Given the description of an element on the screen output the (x, y) to click on. 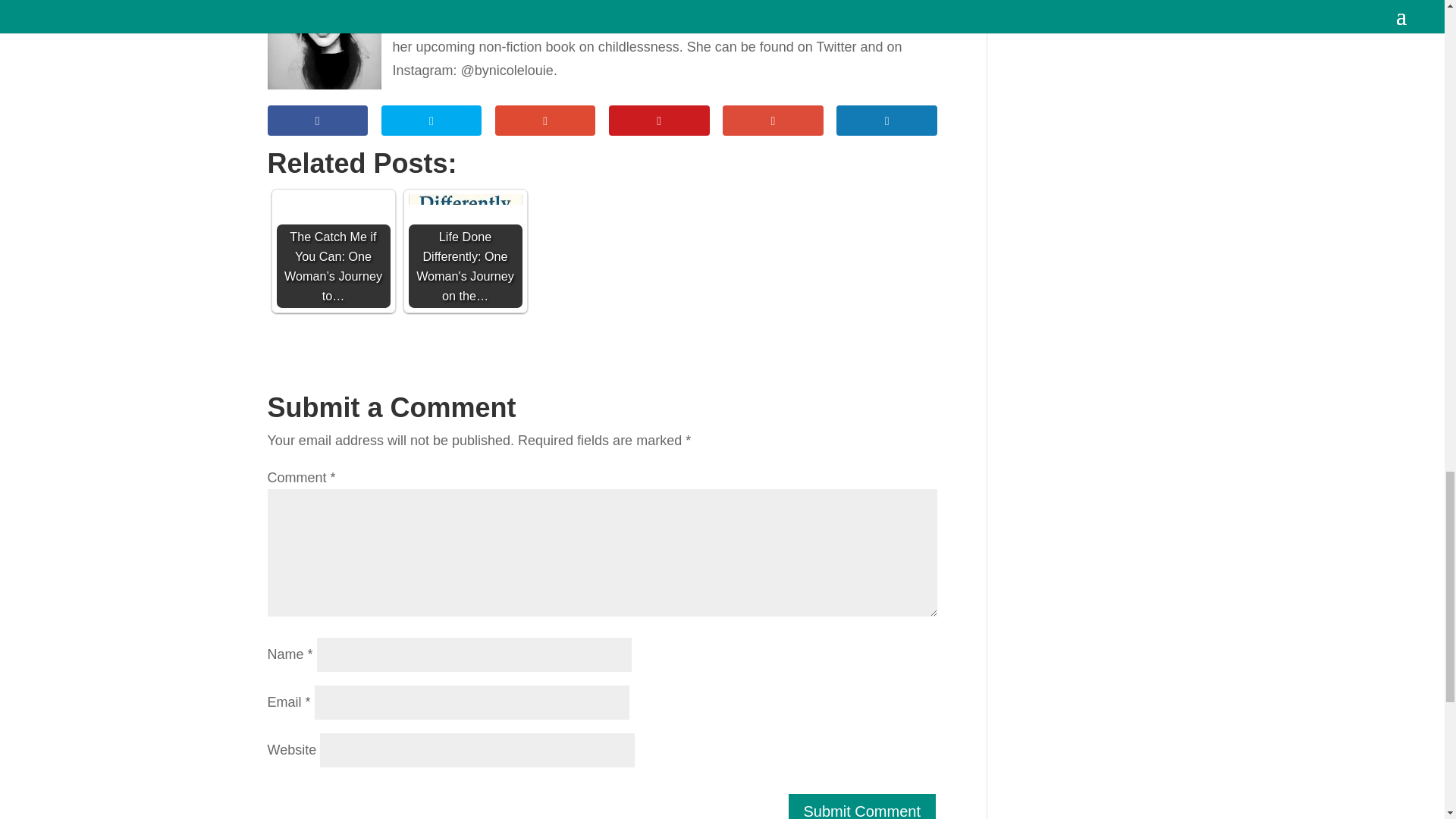
Submit Comment (862, 805)
Submit Comment (862, 805)
